Given the description of an element on the screen output the (x, y) to click on. 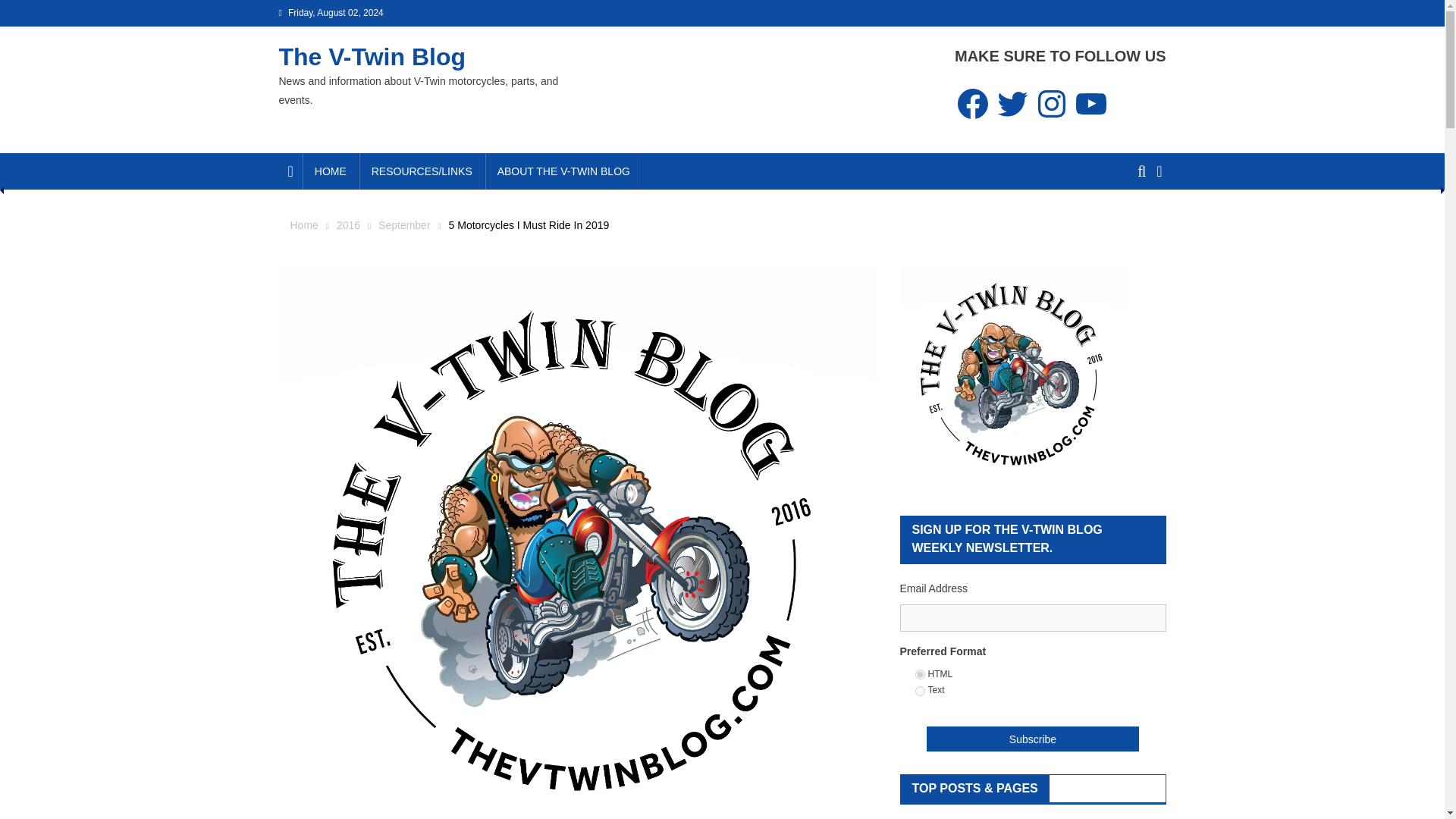
YouTube (1091, 103)
Search (1133, 226)
September (403, 224)
text (919, 691)
Subscribe (1033, 738)
Facebook (973, 103)
2016 (347, 224)
HOME (330, 171)
ABOUT THE V-TWIN BLOG (563, 171)
Instagram (1051, 103)
The V-Twin Blog (372, 56)
html (919, 674)
Home (303, 224)
Twitter (1012, 103)
